Given the description of an element on the screen output the (x, y) to click on. 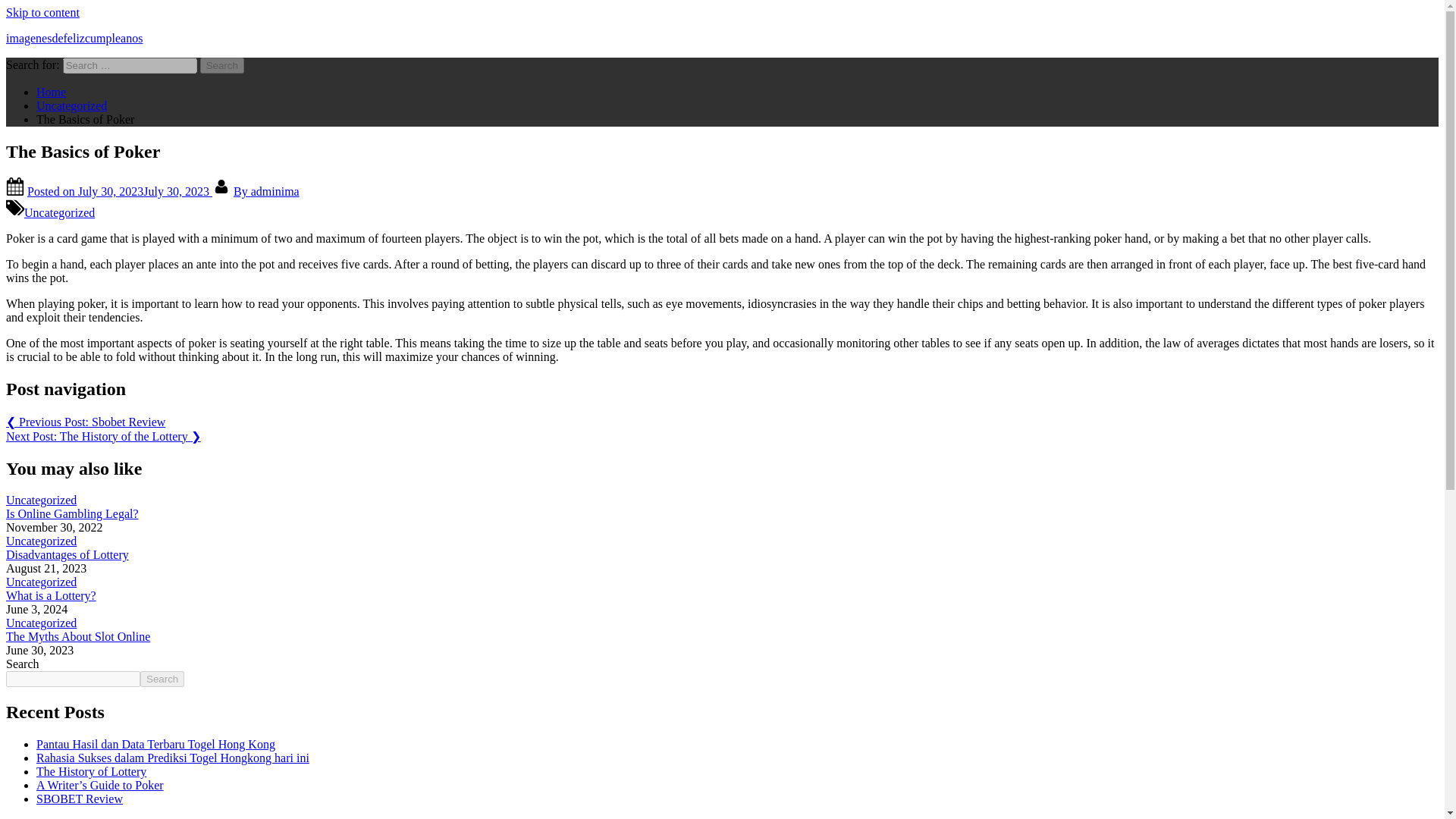
Uncategorized (41, 540)
Search (222, 65)
Posted on July 30, 2023July 30, 2023 (119, 191)
Home (50, 91)
What is a Lottery? (50, 594)
Is Online Gambling Legal? (71, 513)
SBOBET Review (79, 798)
Uncategorized (41, 499)
Uncategorized (59, 212)
imagenesdefelizcumpleanos (73, 38)
The History of Lottery (91, 771)
Skip to content (42, 11)
Uncategorized (71, 105)
By adminima (265, 191)
Uncategorized (41, 581)
